Given the description of an element on the screen output the (x, y) to click on. 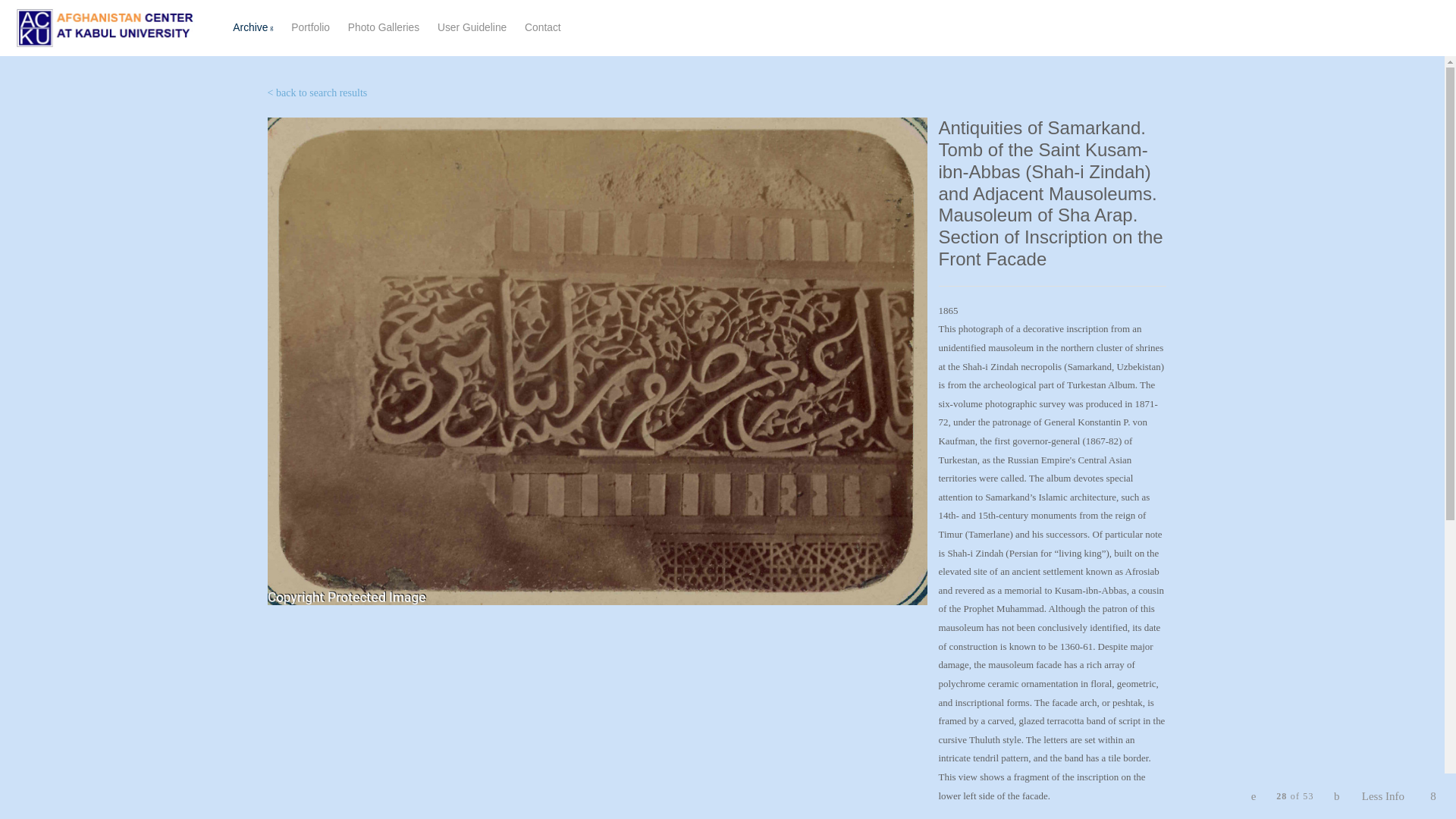
Contact (542, 27)
User Guideline (472, 27)
Portfolio (403, 28)
Afghanistan Centre at Kabul University (310, 27)
back to search results (105, 27)
Photo Galleries (316, 92)
Afghanistan Centre at Kabul University (383, 27)
